Given the description of an element on the screen output the (x, y) to click on. 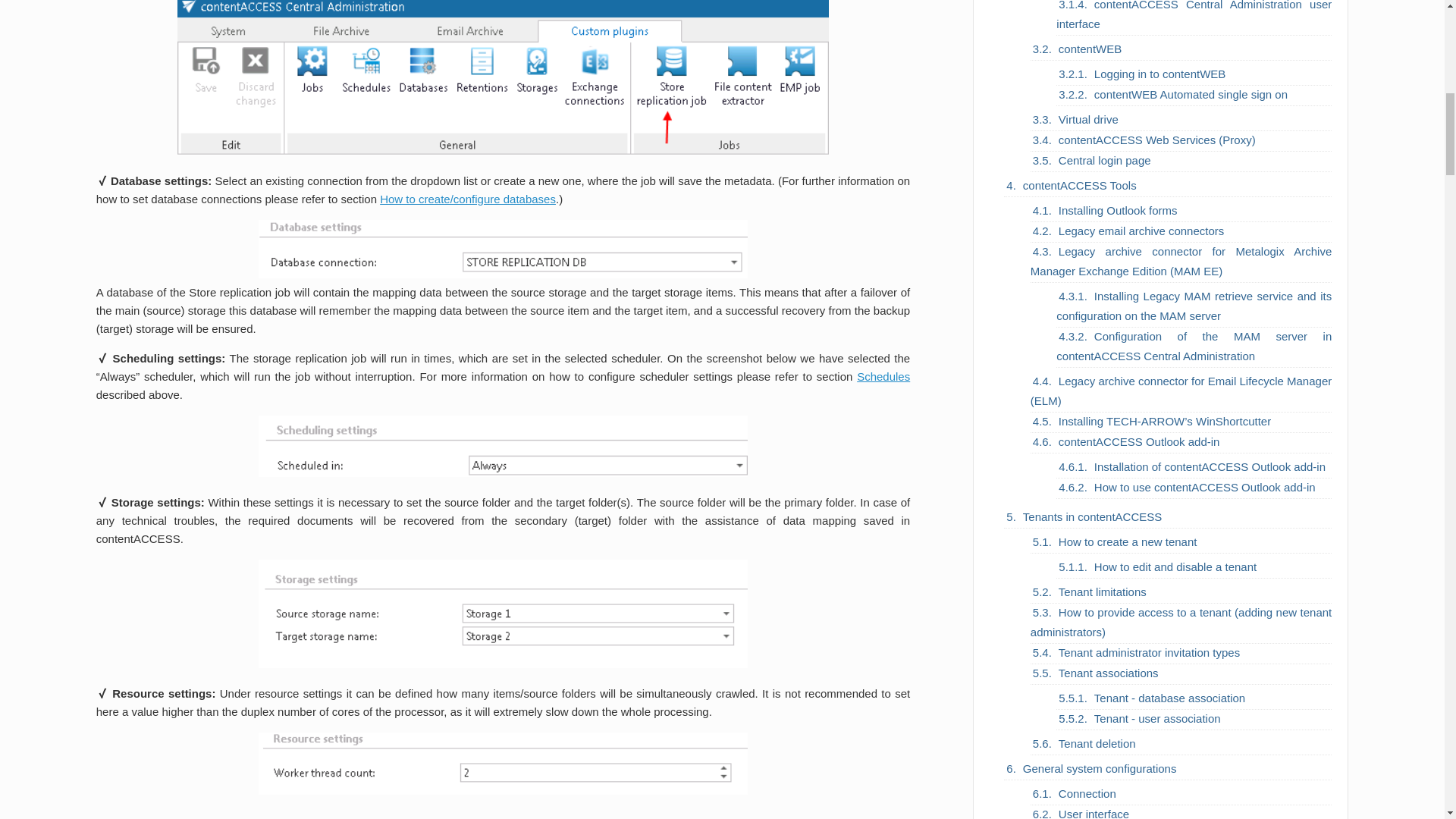
contentACCESS Central Administration user interface (1194, 18)
contentWEB (1089, 48)
Logging in to contentWEB (1159, 73)
